Given the description of an element on the screen output the (x, y) to click on. 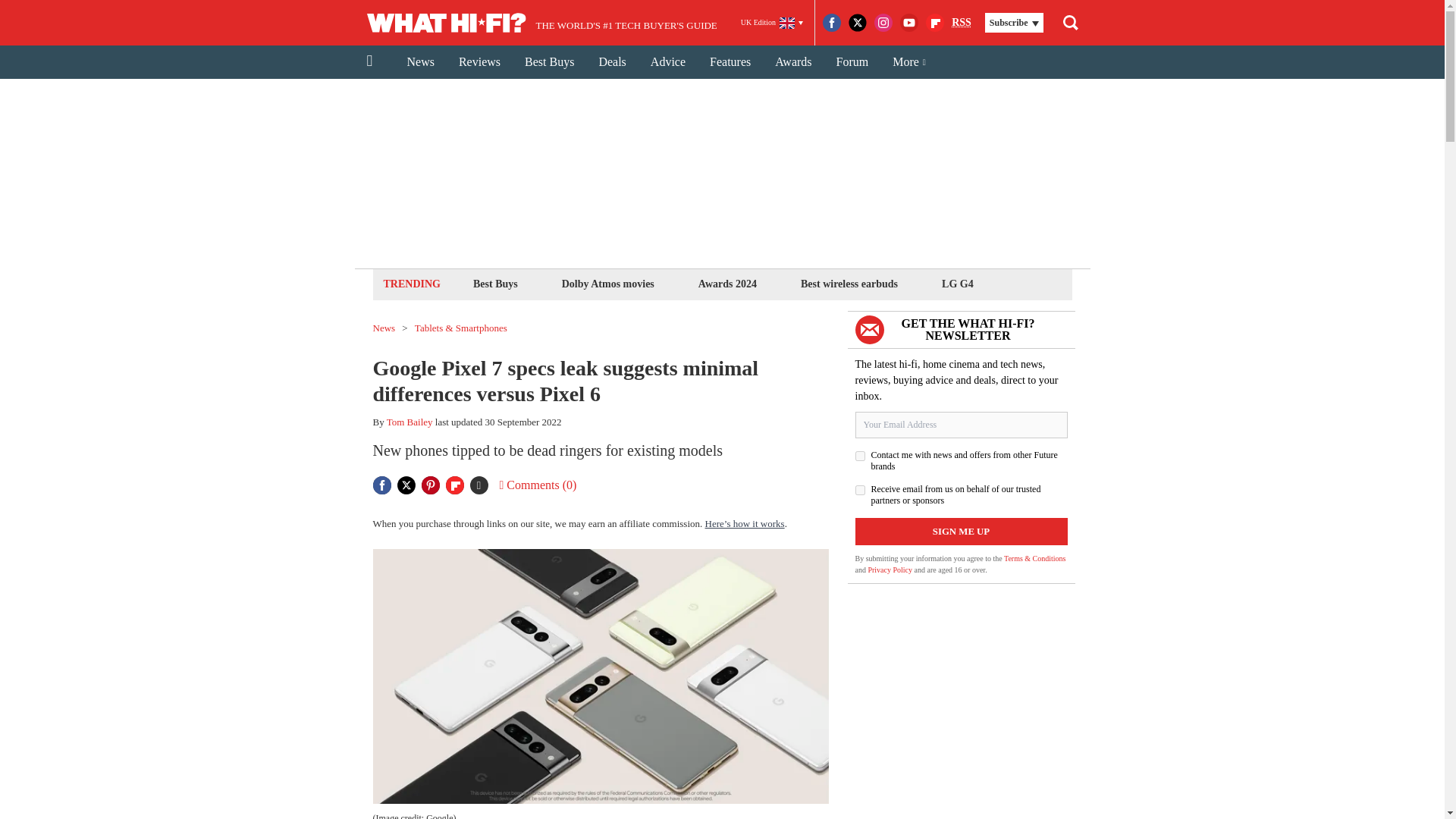
Tom Bailey (409, 421)
News (419, 61)
Features (729, 61)
Best Buys (549, 61)
Sign me up (961, 531)
Awards 2024 (727, 283)
RSS (961, 22)
Dolby Atmos movies (607, 283)
Really Simple Syndication (961, 21)
Deals (611, 61)
UK Edition (771, 22)
LG G4 (957, 283)
Best Buys (494, 283)
Best wireless earbuds (848, 283)
Forum (852, 61)
